Given the description of an element on the screen output the (x, y) to click on. 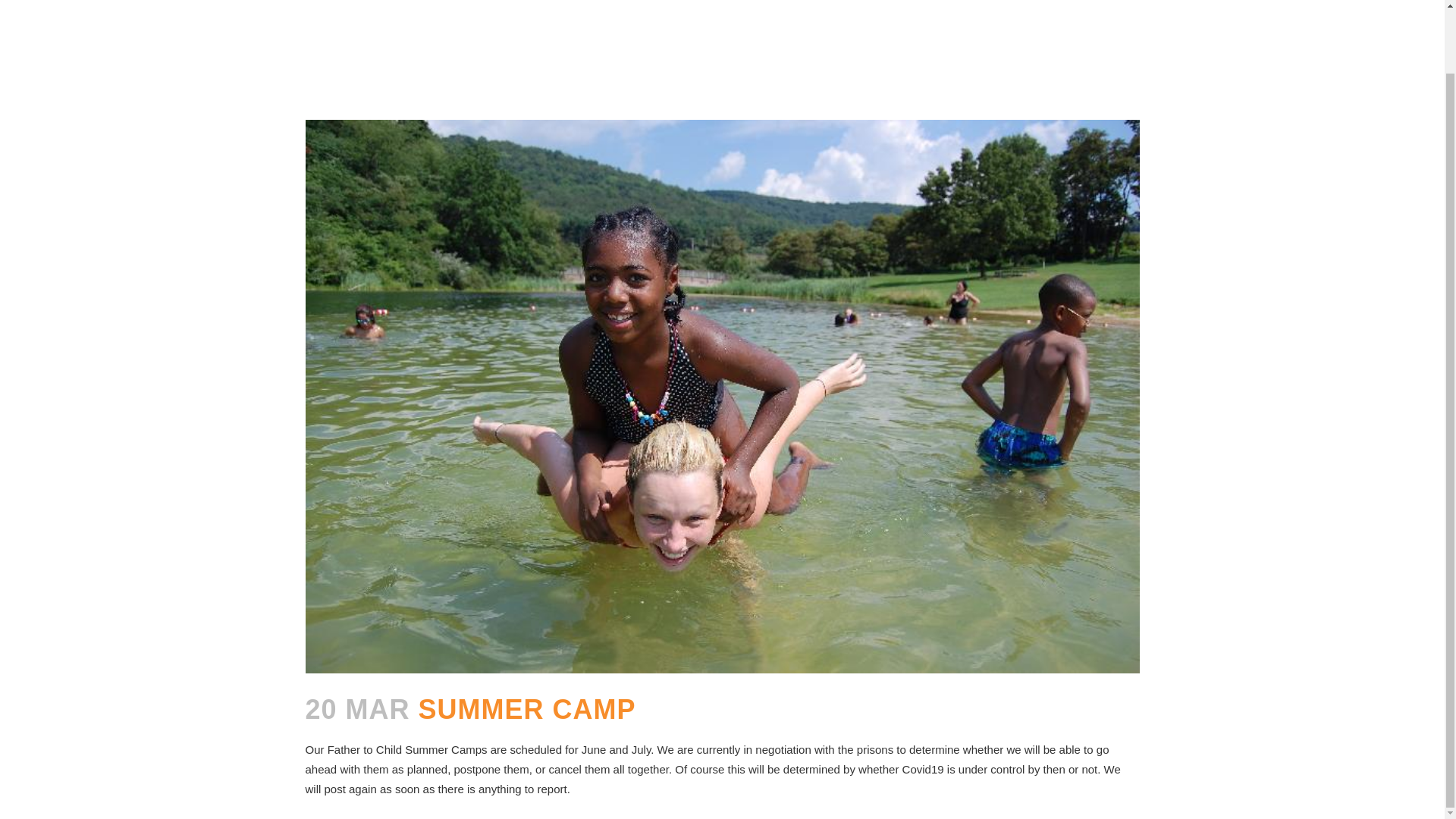
CONTACT (984, 12)
ABOUT (607, 12)
PROGRAMS (688, 12)
HOW TO HELP (789, 12)
MULTIMEDIA (893, 12)
